Given the description of an element on the screen output the (x, y) to click on. 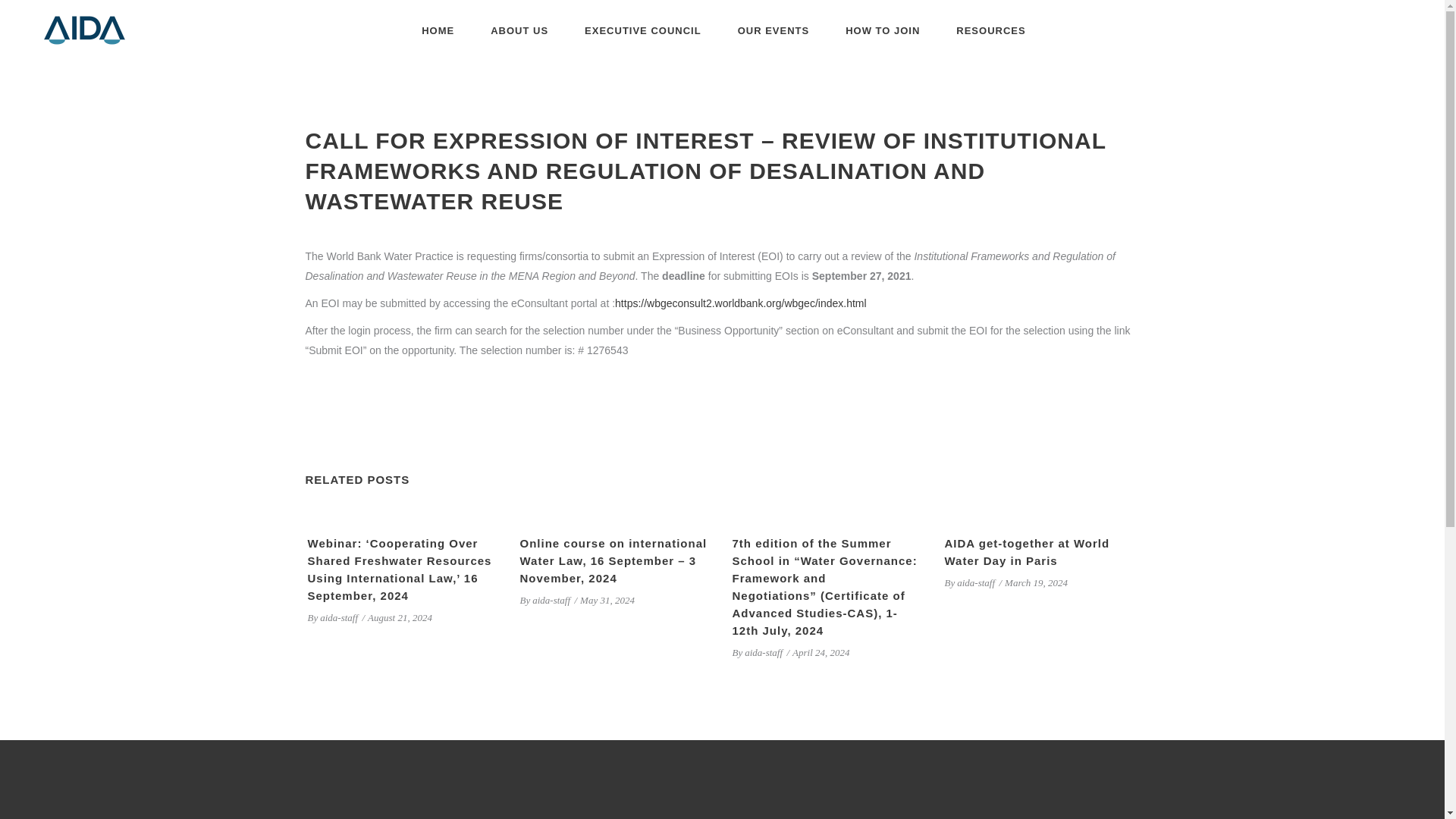
HOME (437, 29)
EXECUTIVE COUNCIL (642, 29)
aida-staff (763, 652)
AIDA get-together at World Water Day in Paris (1026, 552)
March 19, 2024 (1035, 582)
April 24, 2024 (820, 652)
OUR EVENTS (773, 29)
May 31, 2024 (606, 600)
aida-staff (339, 617)
HOW TO JOIN (882, 29)
